Given the description of an element on the screen output the (x, y) to click on. 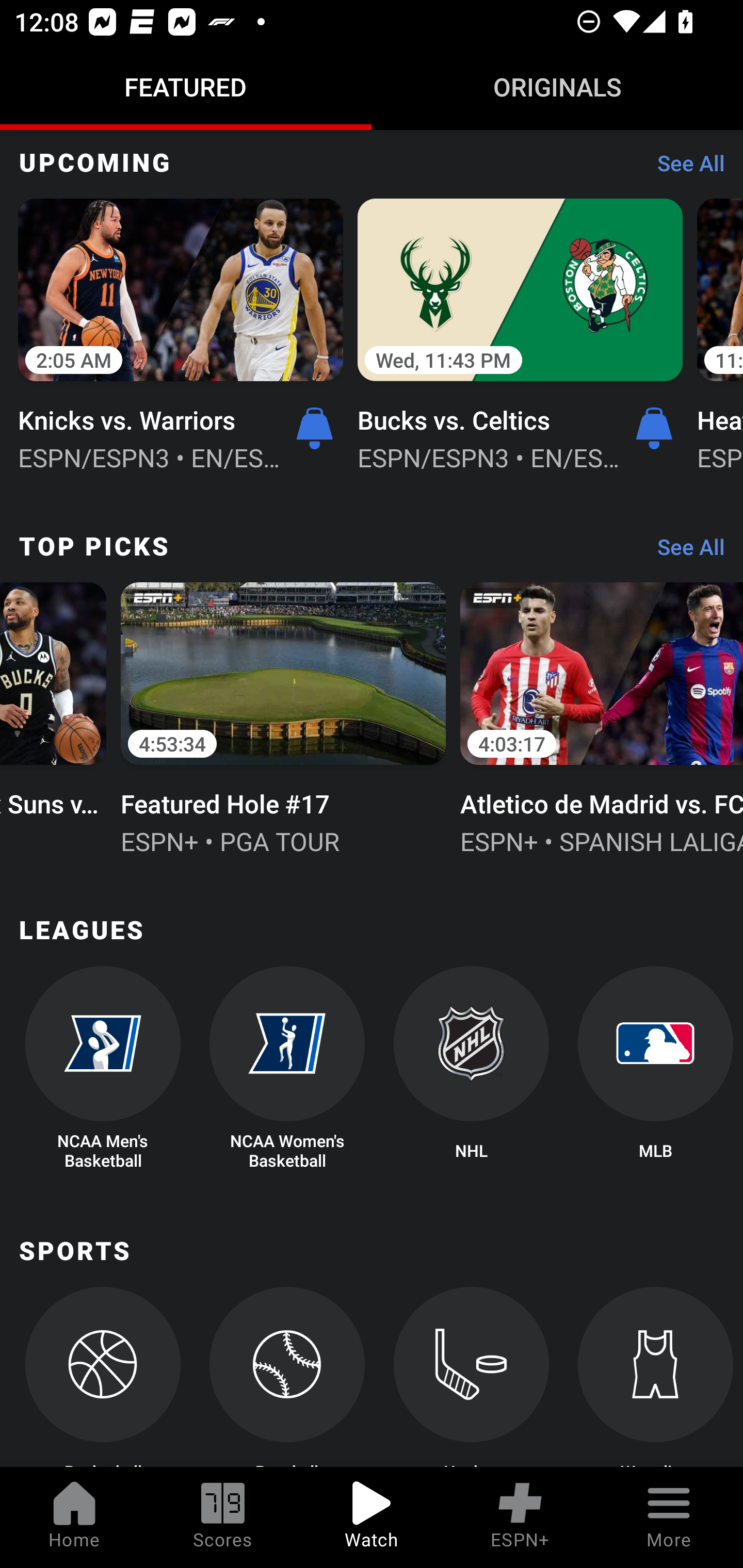
Originals ORIGINALS (557, 86)
See All (683, 167)
See All (683, 551)
4:53:34 Featured Hole #17 ESPN+ • PGA TOUR (282, 716)
NCAA Men's Basketball (102, 1068)
NCAA Women's Basketball (286, 1068)
NHL (471, 1068)
MLB (655, 1068)
Basketball (102, 1377)
Baseball (286, 1377)
Hockey (471, 1377)
Wrestling (655, 1377)
Home (74, 1517)
Scores (222, 1517)
ESPN+ (519, 1517)
More (668, 1517)
